Given the description of an element on the screen output the (x, y) to click on. 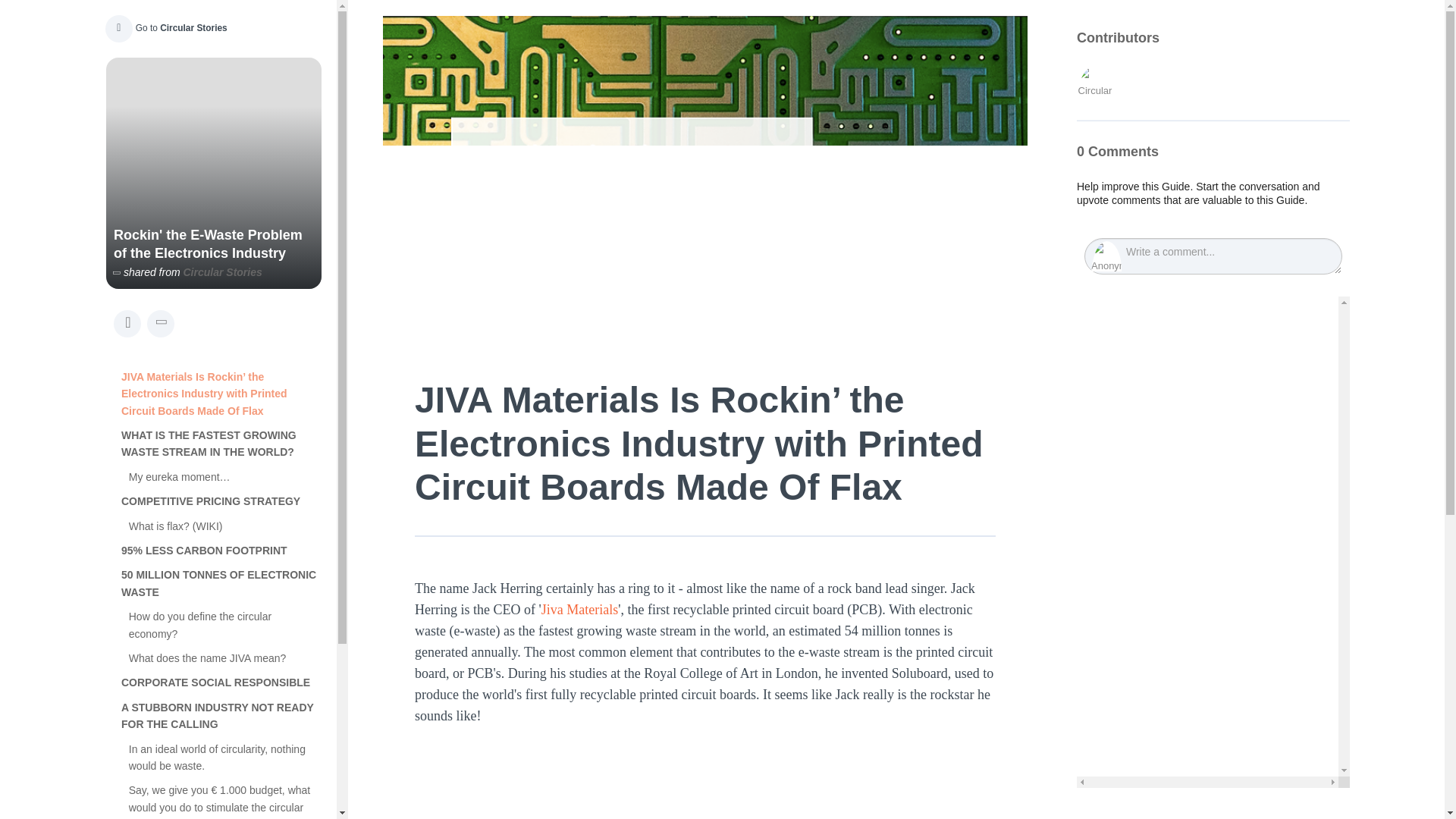
  Go to Circular Stories (164, 27)
What does the name JIVA mean? (225, 658)
COMPETITIVE PRICING STRATEGY (220, 501)
How do you define the circular economy? (225, 625)
A STUBBORN INDUSTRY NOT READY FOR THE CALLING (220, 716)
Share (127, 323)
In an ideal world of circularity, nothing would be waste. (225, 757)
Jiva Materials (579, 609)
Circular Stories (1095, 84)
50 MILLION TONNES OF ELECTRONIC WASTE (220, 583)
WHAT IS THE FASTEST GROWING WASTE STREAM IN THE WORLD? (220, 443)
Circular Stories (222, 272)
Anonymous Traveller (1105, 255)
CORPORATE SOCIAL RESPONSIBLE (220, 682)
Add to... (160, 323)
